Given the description of an element on the screen output the (x, y) to click on. 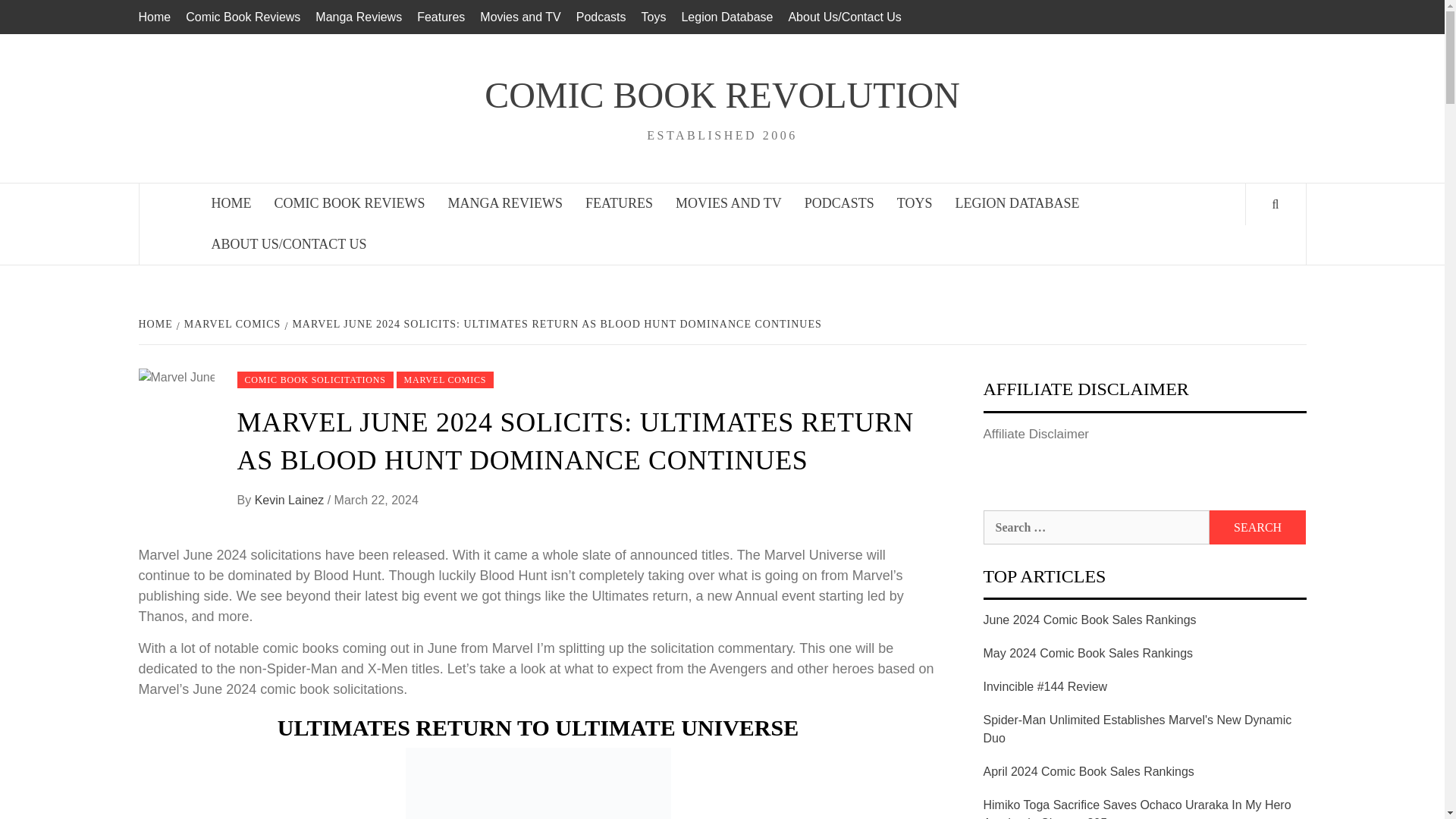
Podcasts (601, 17)
Movies and TV (519, 17)
Home (157, 17)
Manga Reviews (358, 17)
Search (1257, 527)
Search (1257, 527)
Legion Database (726, 17)
HOME (231, 203)
COMIC BOOK REVOLUTION (721, 95)
Features (440, 17)
Toys (653, 17)
COMIC BOOK REVIEWS (348, 203)
Comic Book Reviews (242, 17)
